Given the description of an element on the screen output the (x, y) to click on. 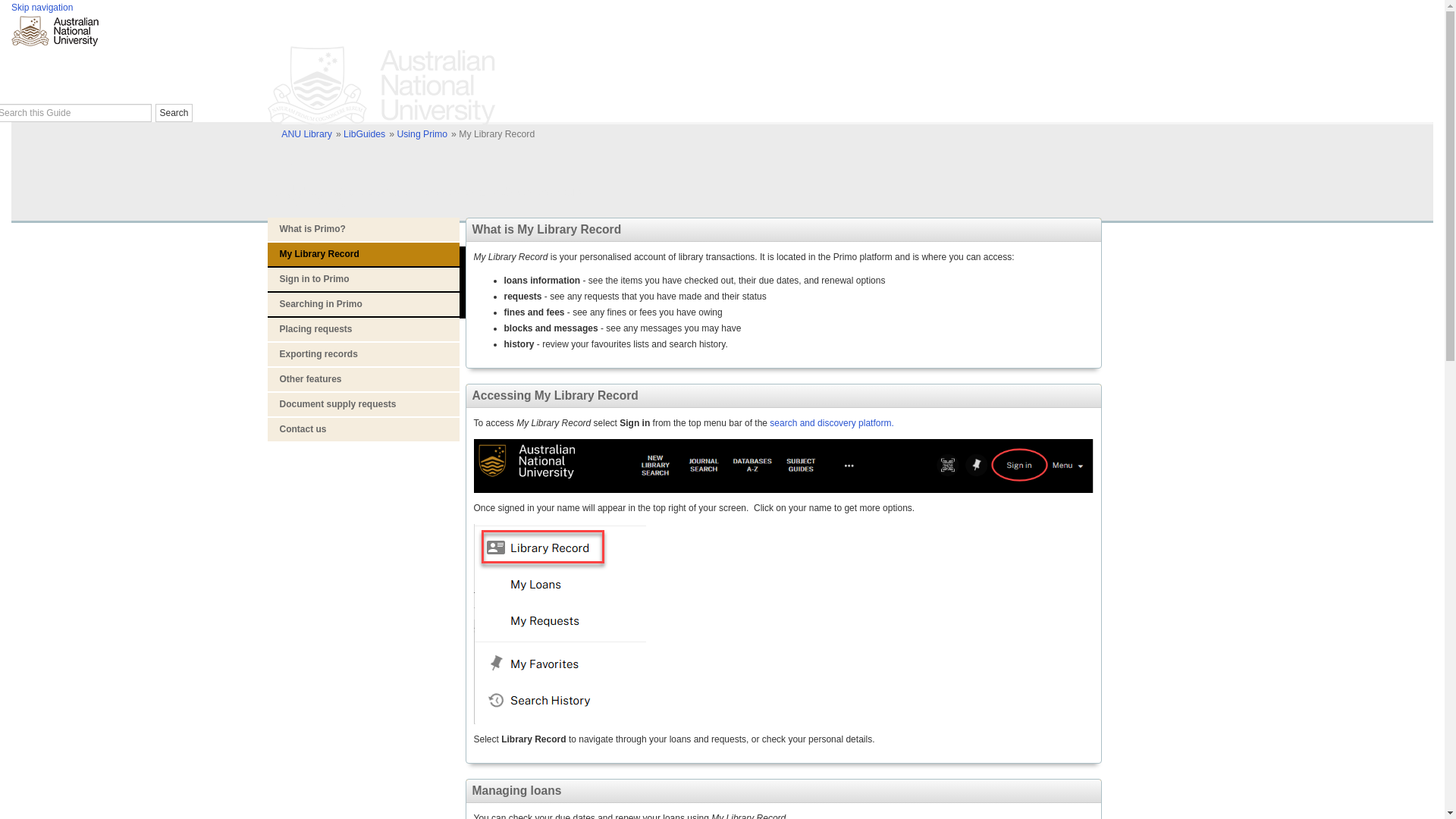
What is Primo? (362, 228)
Document supply requests (362, 404)
Library (308, 195)
search and discovery platform. (831, 422)
Placing requests (362, 329)
Exporting records (362, 354)
Search (173, 113)
Searching in Primo (362, 304)
LibGuides (364, 133)
My Library Record (362, 254)
Contact us (362, 429)
Using Primo (421, 133)
Skip navigation (41, 7)
Other features (362, 379)
Sign in to Primo (362, 279)
